Given the description of an element on the screen output the (x, y) to click on. 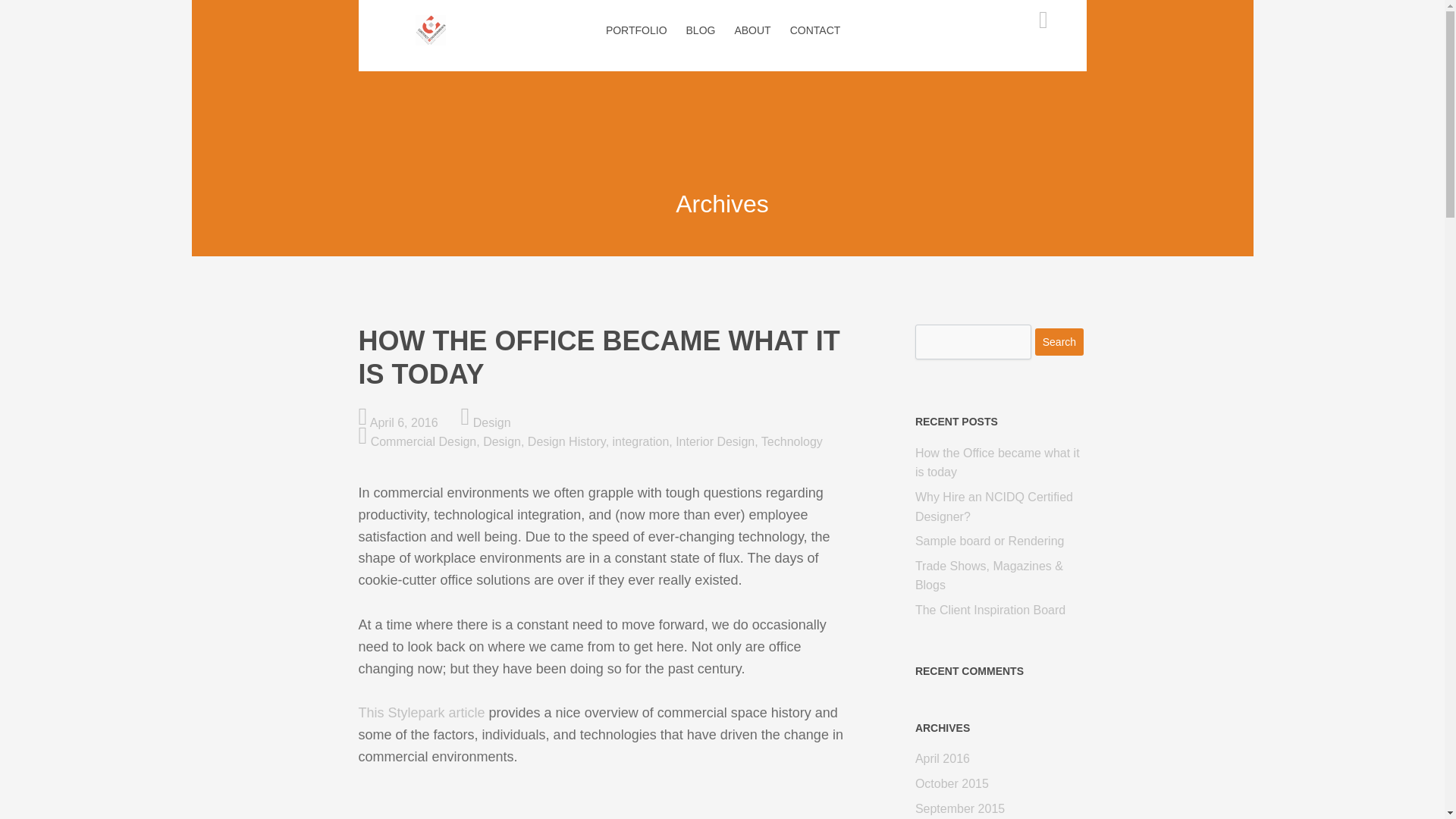
Design (502, 440)
The Client Inspiration Board (990, 609)
How the Office became what it is today (606, 356)
Design History (566, 440)
BLOG (700, 30)
October 2015 (951, 783)
Commercial Design (424, 440)
Contract Environments, Inc. (430, 37)
Search (1059, 341)
April 2016 (942, 758)
